Given the description of an element on the screen output the (x, y) to click on. 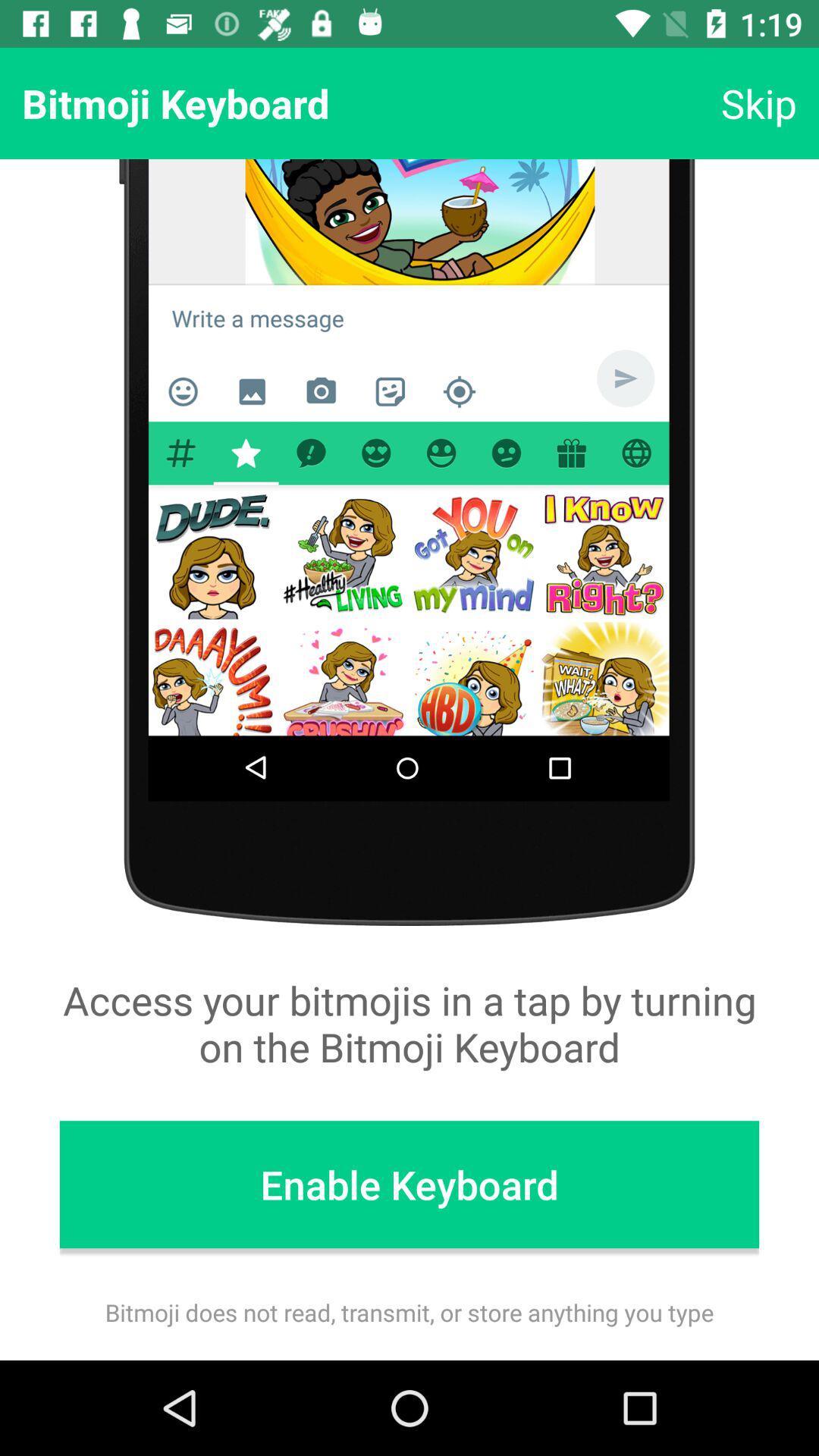
swipe until the skip icon (758, 102)
